Given the description of an element on the screen output the (x, y) to click on. 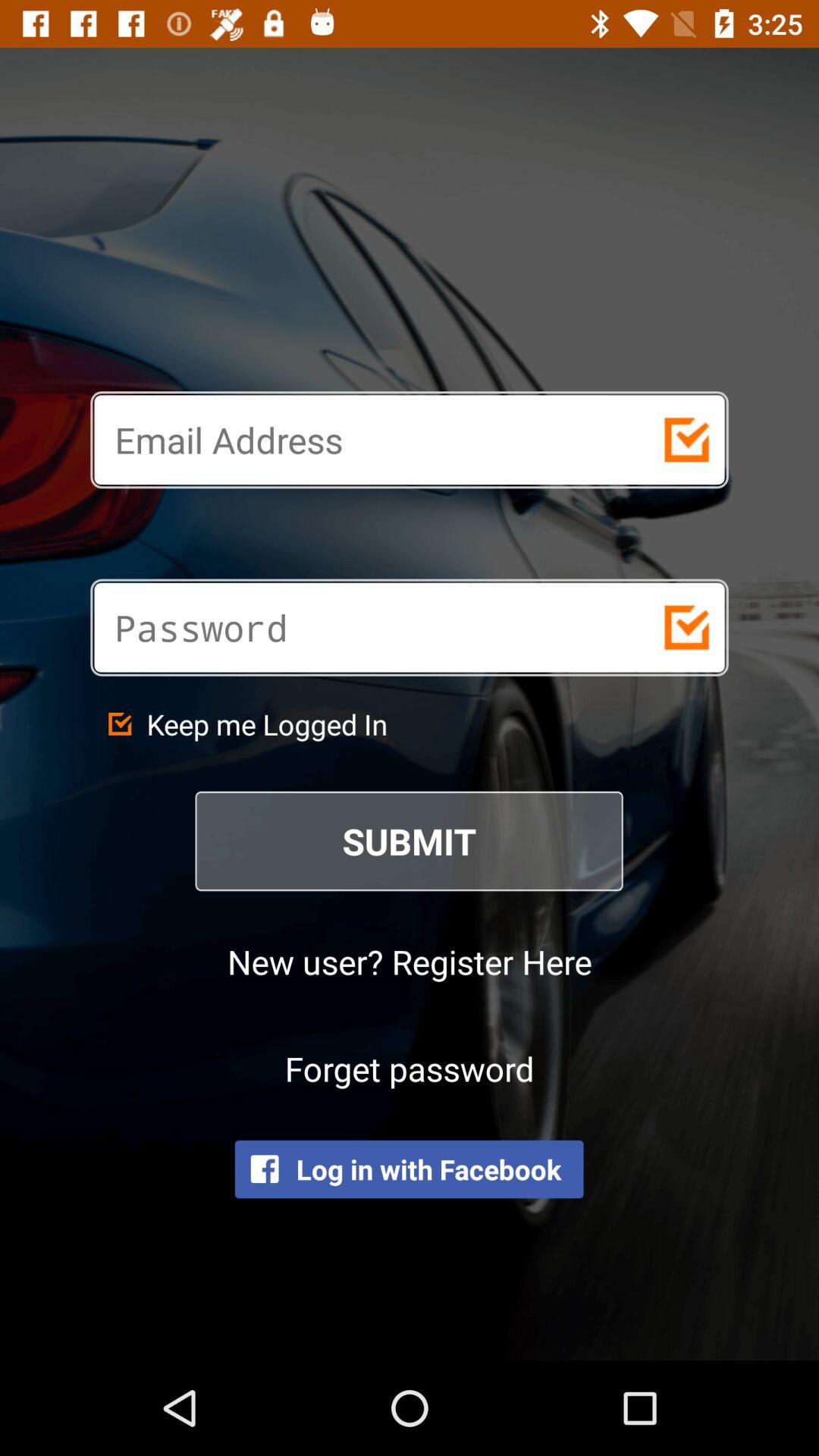
select the log in with (408, 1169)
